Given the description of an element on the screen output the (x, y) to click on. 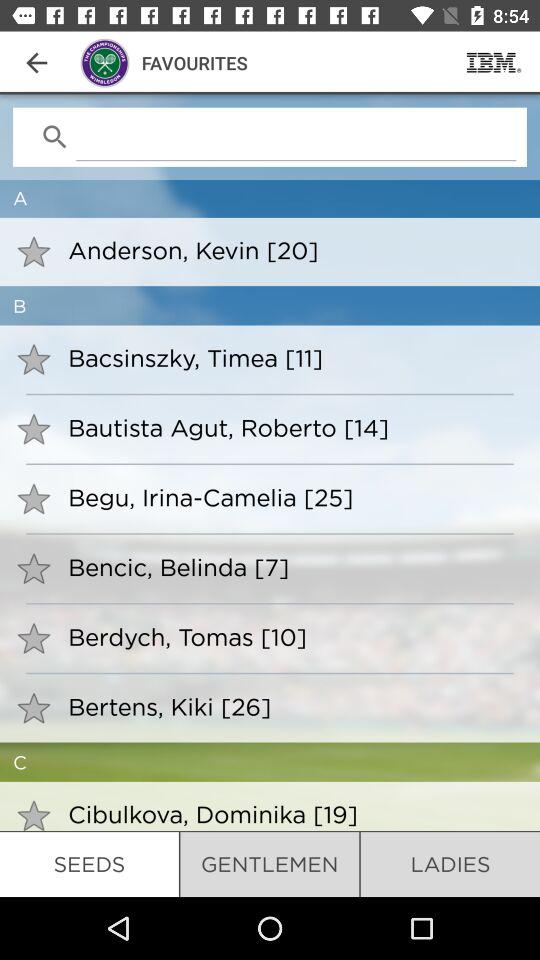
select gentlemen item (269, 863)
